Given the description of an element on the screen output the (x, y) to click on. 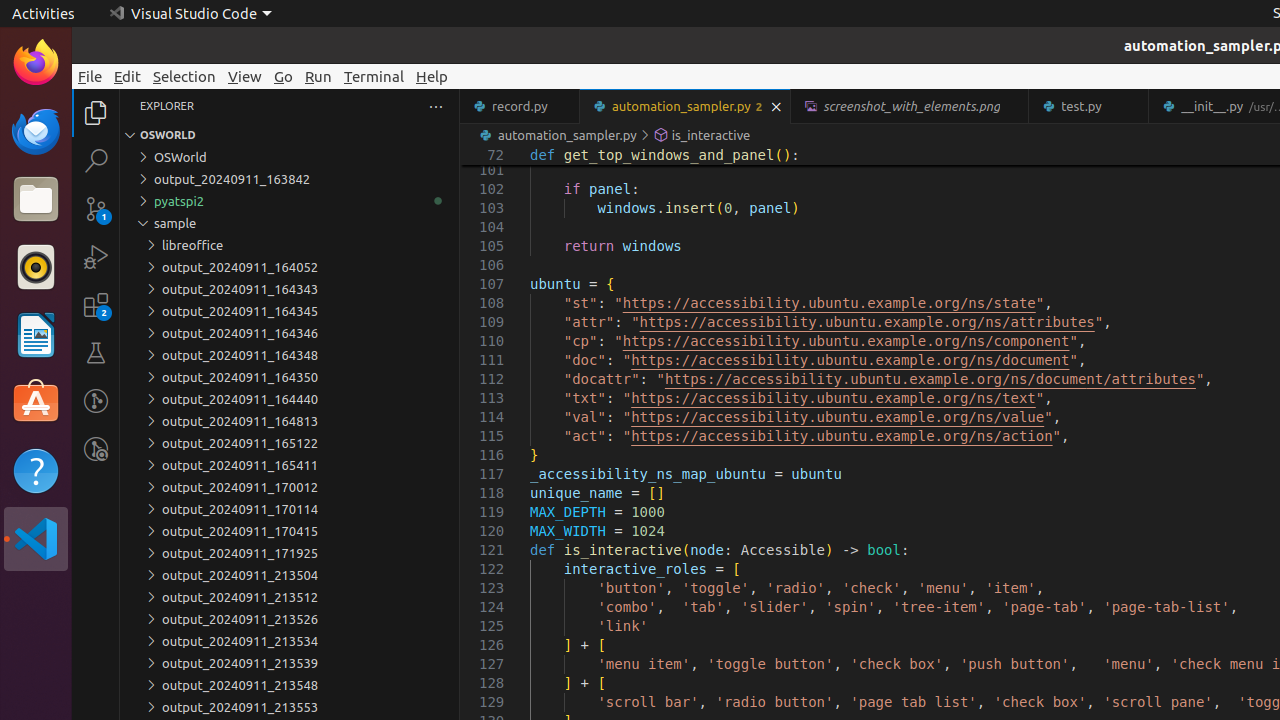
output_20240911_213548 Element type: tree-item (289, 685)
output_20240911_164440 Element type: tree-item (289, 399)
output_20240911_170012 Element type: tree-item (289, 487)
output_20240911_170114 Element type: tree-item (289, 509)
